Given the description of an element on the screen output the (x, y) to click on. 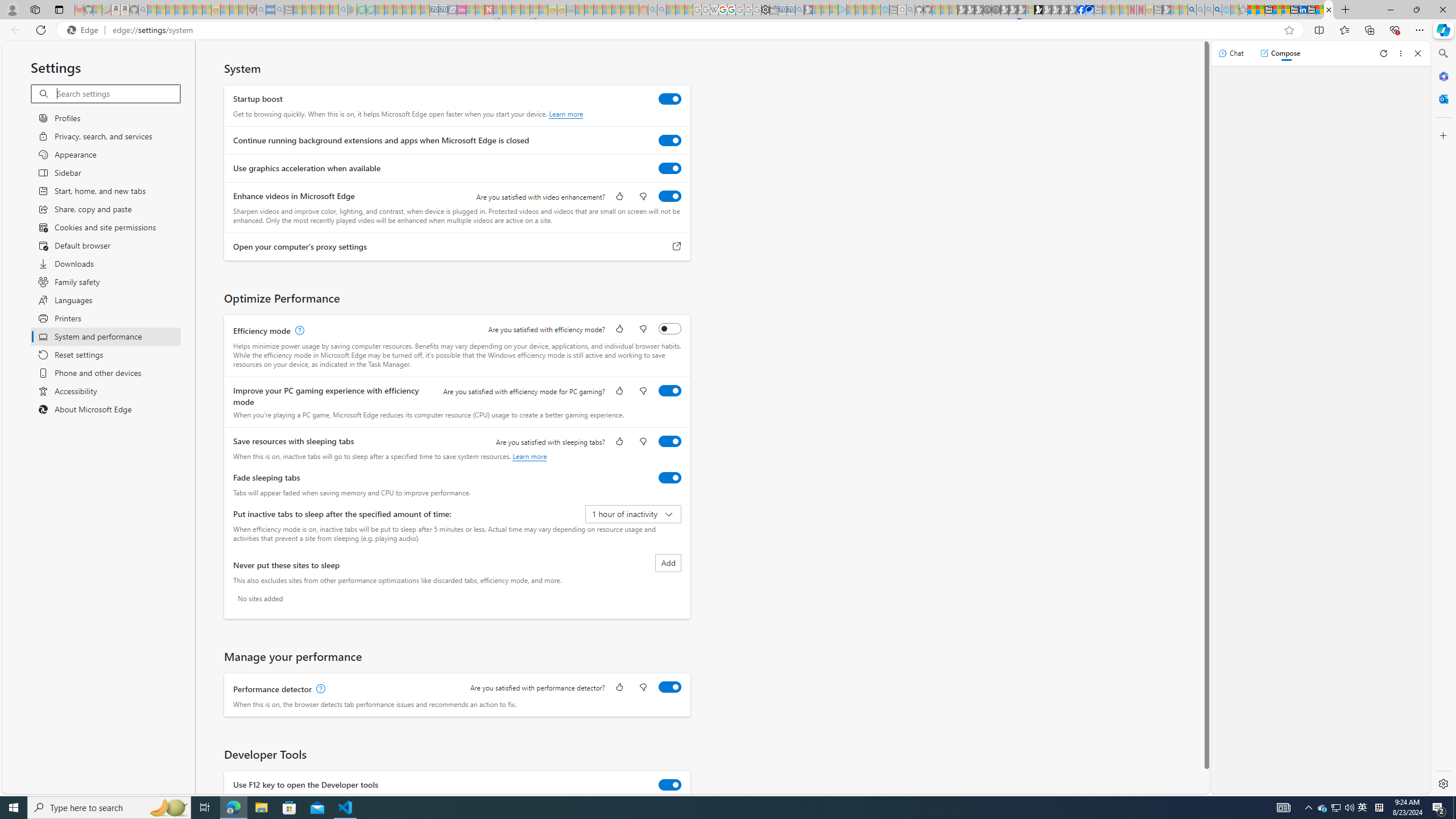
Target page - Wikipedia - Sleeping (713, 9)
Search settings (117, 93)
